Given the description of an element on the screen output the (x, y) to click on. 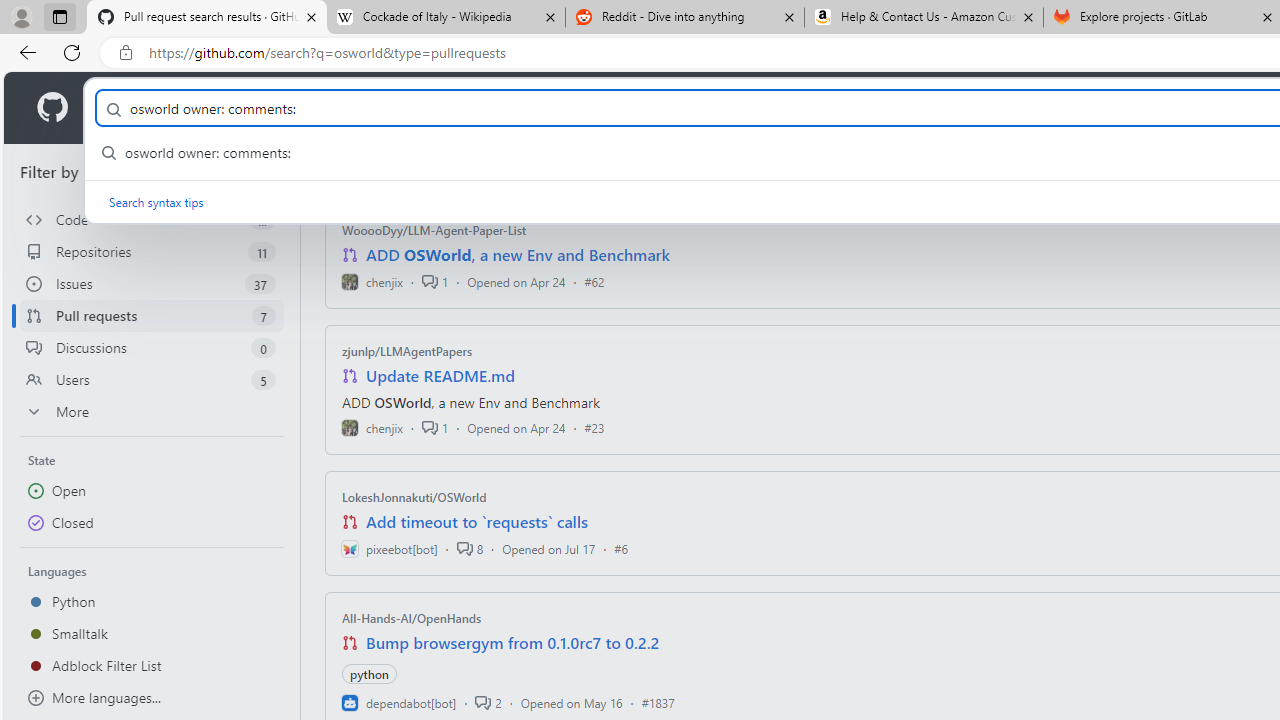
Solutions (225, 107)
Update README.md (440, 376)
More languages... (152, 697)
Pricing (649, 107)
WooooDyy/LLM-Agent-Paper-List (434, 230)
Pricing (649, 107)
#6 (621, 548)
8 (469, 548)
#6 (621, 548)
Open Source (446, 107)
